Given the description of an element on the screen output the (x, y) to click on. 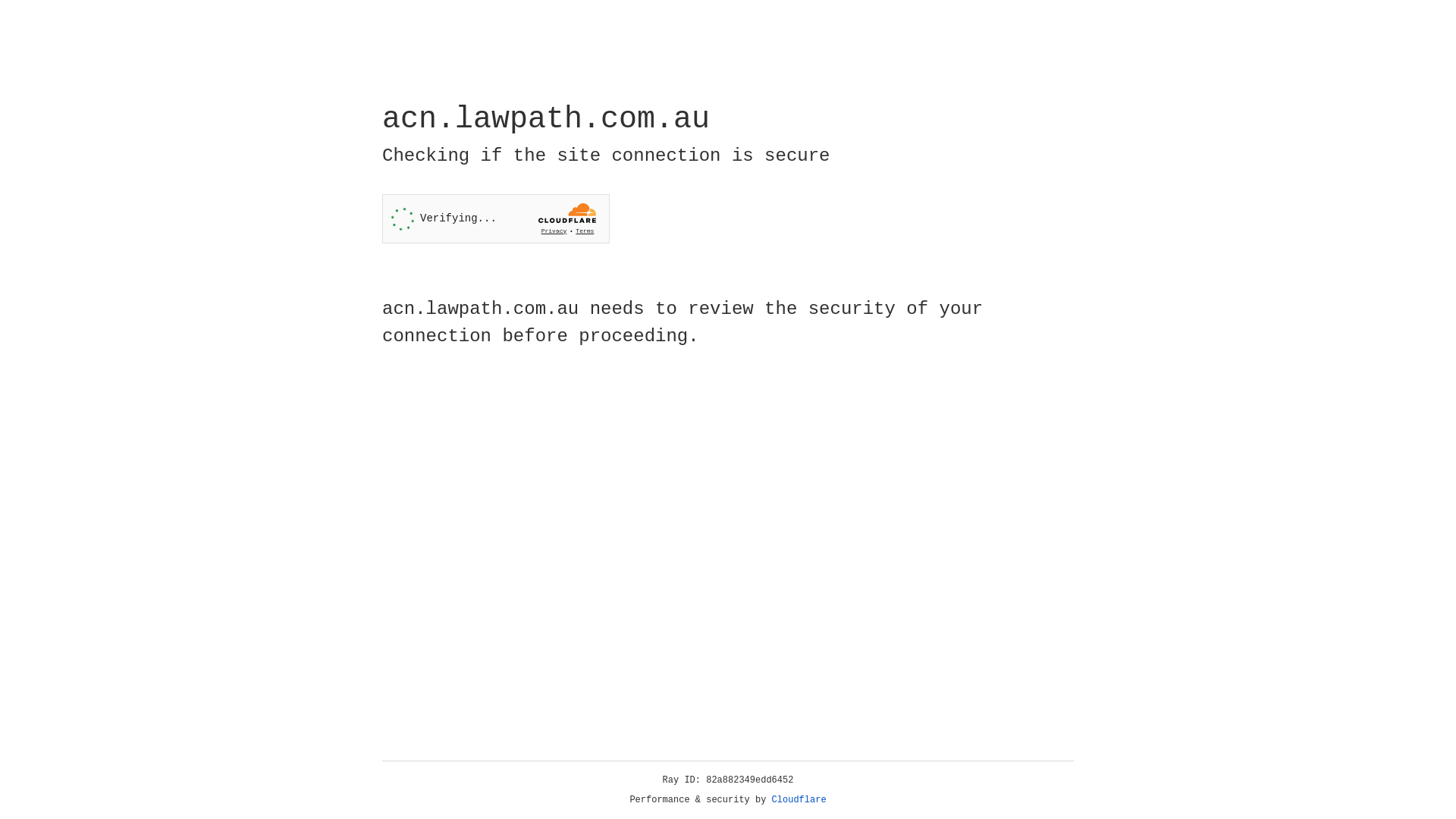
Cloudflare Element type: text (798, 799)
Widget containing a Cloudflare security challenge Element type: hover (495, 218)
